Given the description of an element on the screen output the (x, y) to click on. 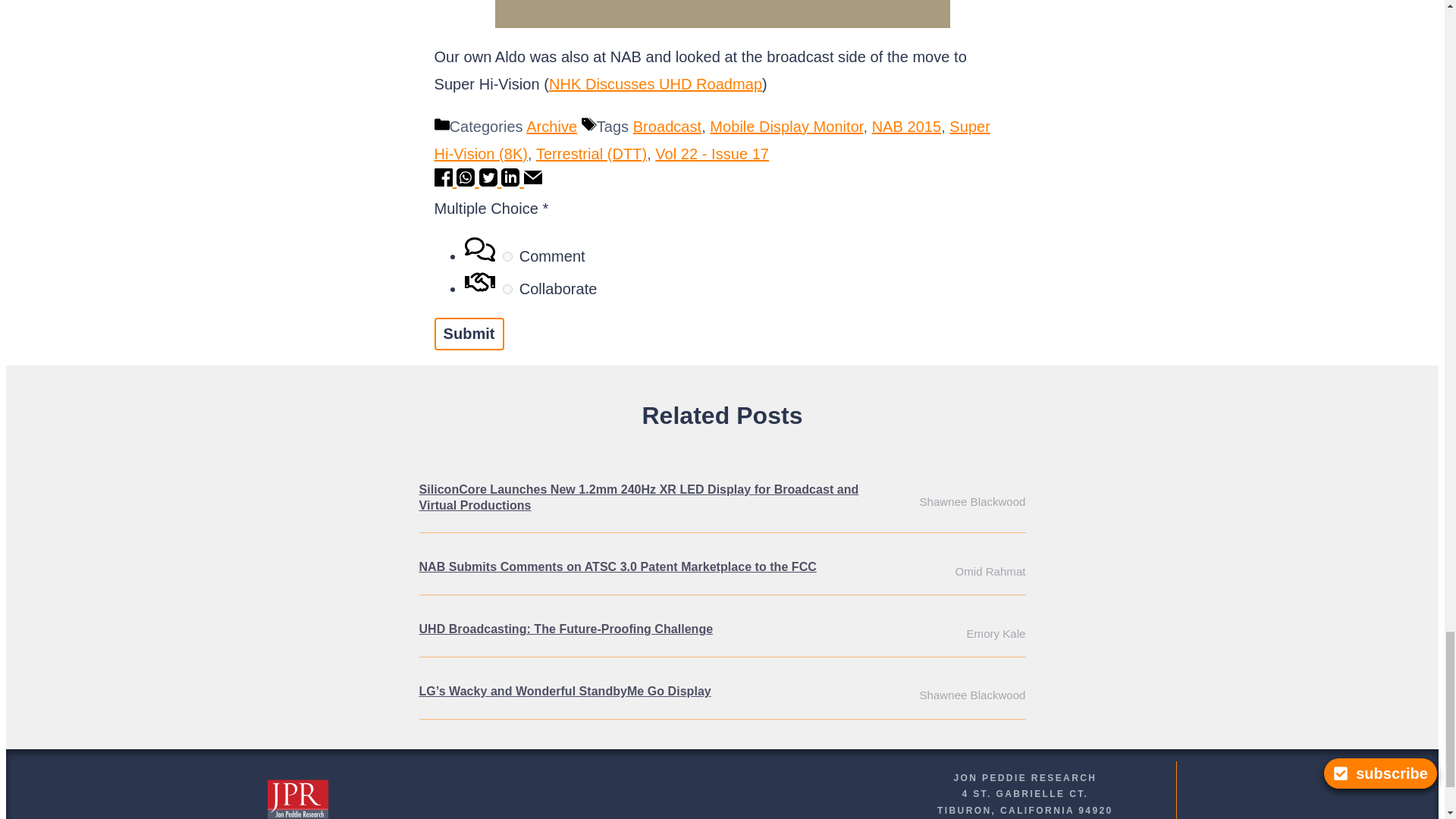
NAB 2015 (907, 126)
Mobile Display Monitor (786, 126)
Collaborate (507, 289)
Comment (507, 256)
Submit (468, 333)
NHK Discusses UHD Roadmap (654, 84)
Archive (550, 126)
Vol 22 - Issue 17 (711, 153)
UHD Broadcasting: The Future-Proofing Challenge (566, 628)
Broadcast (667, 126)
